Given the description of an element on the screen output the (x, y) to click on. 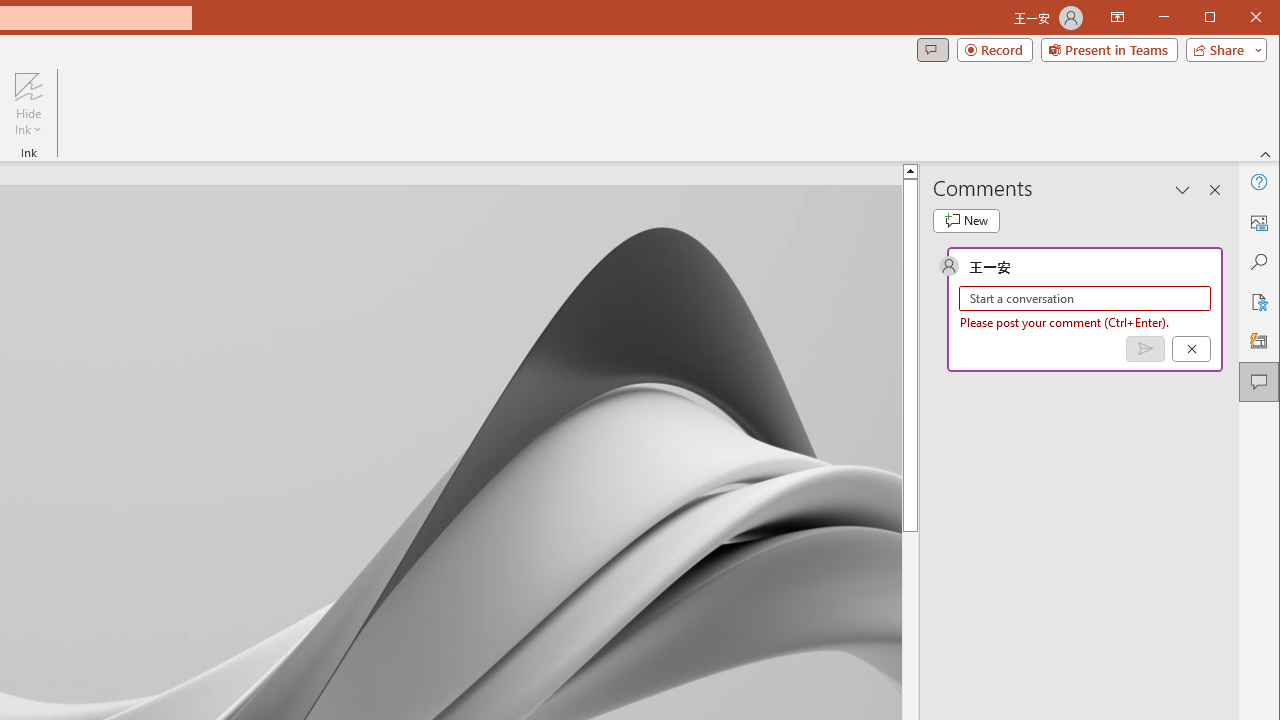
Cancel (1191, 349)
Post comment (Ctrl + Enter) (1145, 349)
Start a conversation (1085, 298)
